Given the description of an element on the screen output the (x, y) to click on. 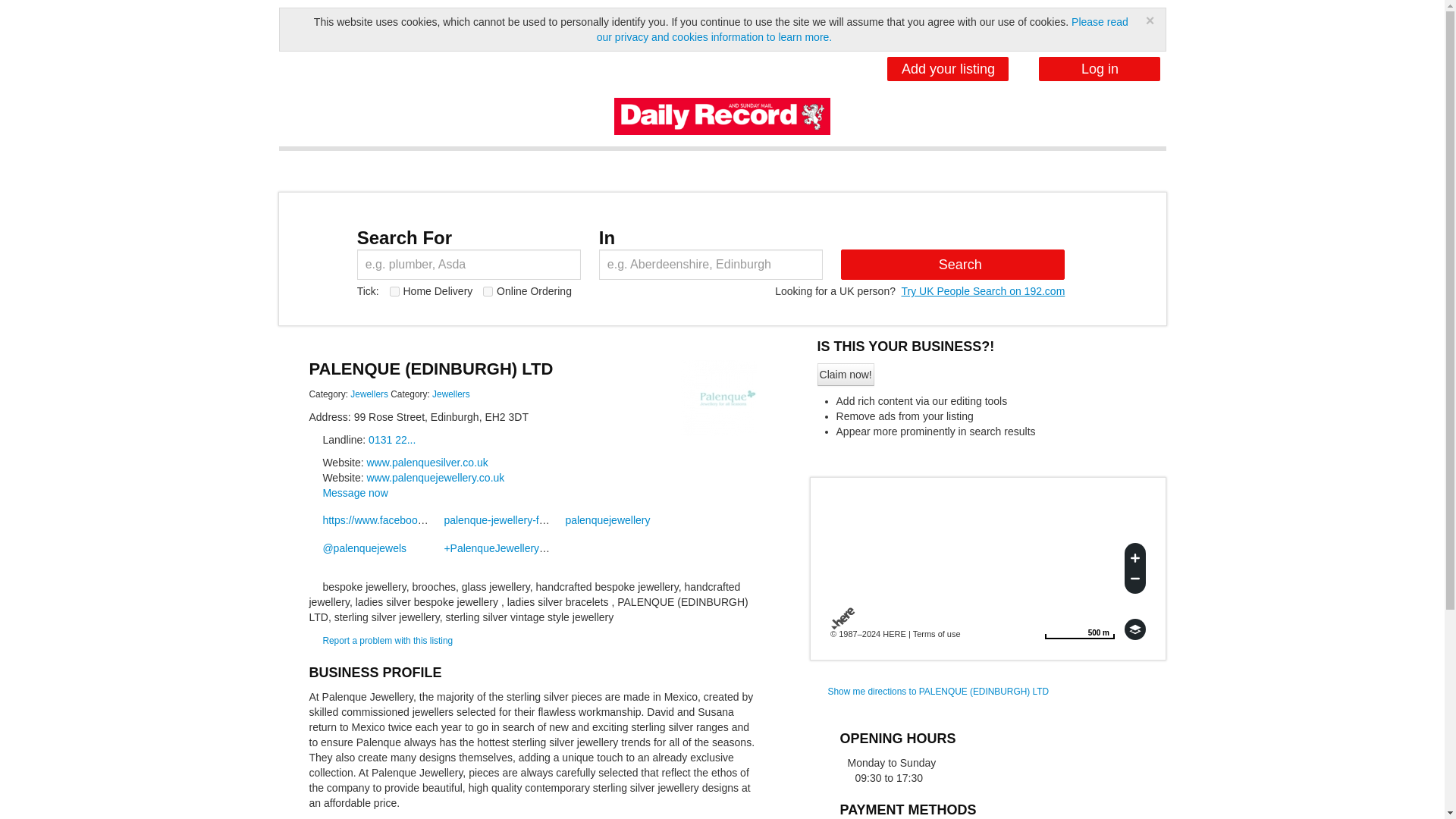
show me more (369, 394)
Choose view (1134, 629)
on (394, 291)
on (488, 291)
Jewellers (369, 394)
palenquejewellery (600, 520)
Jewellers (1079, 629)
click to show number (451, 394)
Message now (391, 439)
0131 22... (354, 492)
Change to miles (391, 439)
Add your listing (1079, 629)
www.palenquejewellery.co.uk (947, 68)
Try UK People Search on 192.com (435, 477)
